Given the description of an element on the screen output the (x, y) to click on. 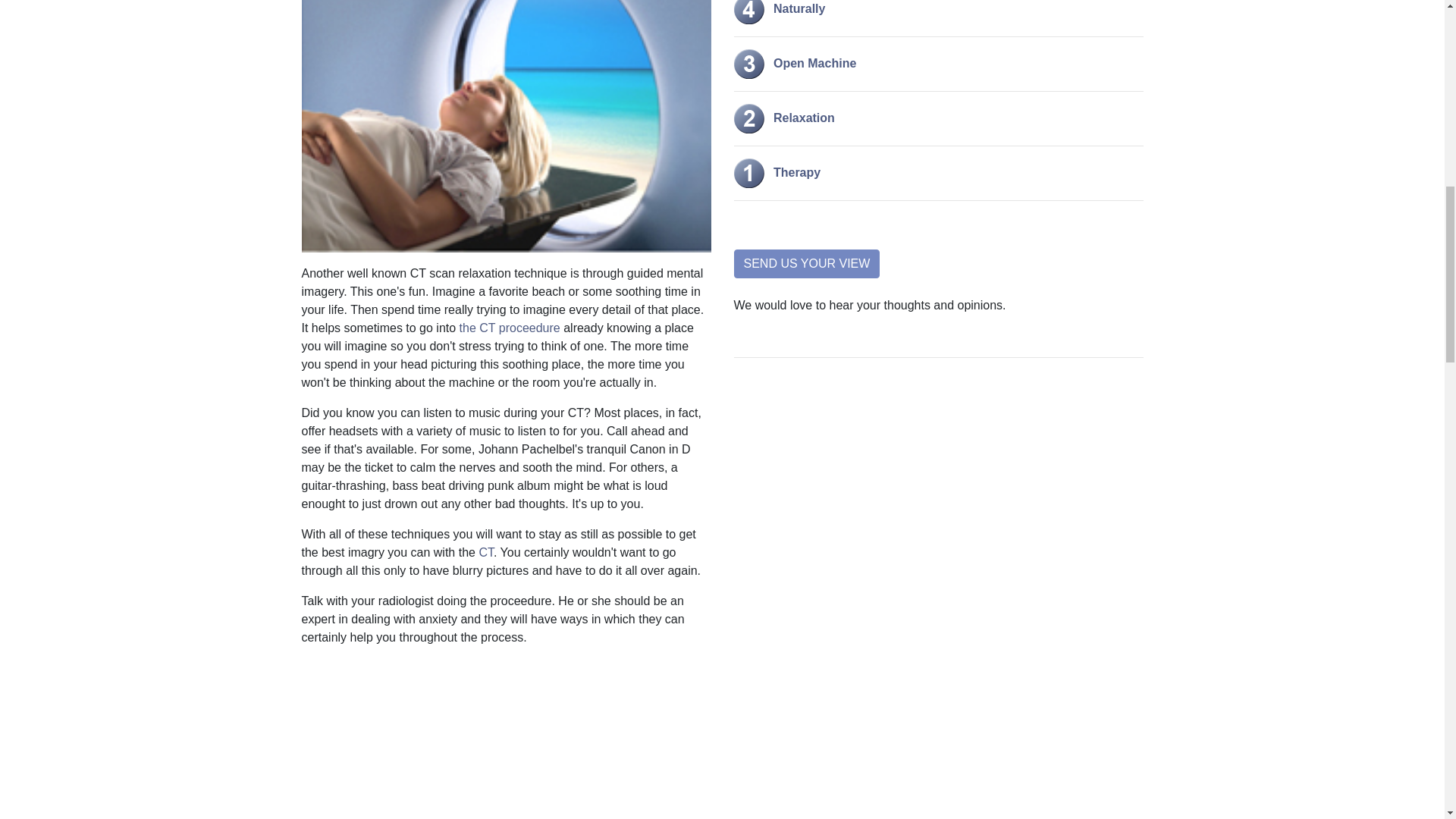
CT (486, 552)
SEND US YOUR VIEW (806, 263)
Open Machine (795, 62)
Therapy (777, 172)
Naturally (779, 8)
the CT proceedure (510, 327)
Relaxation (783, 117)
